Given the description of an element on the screen output the (x, y) to click on. 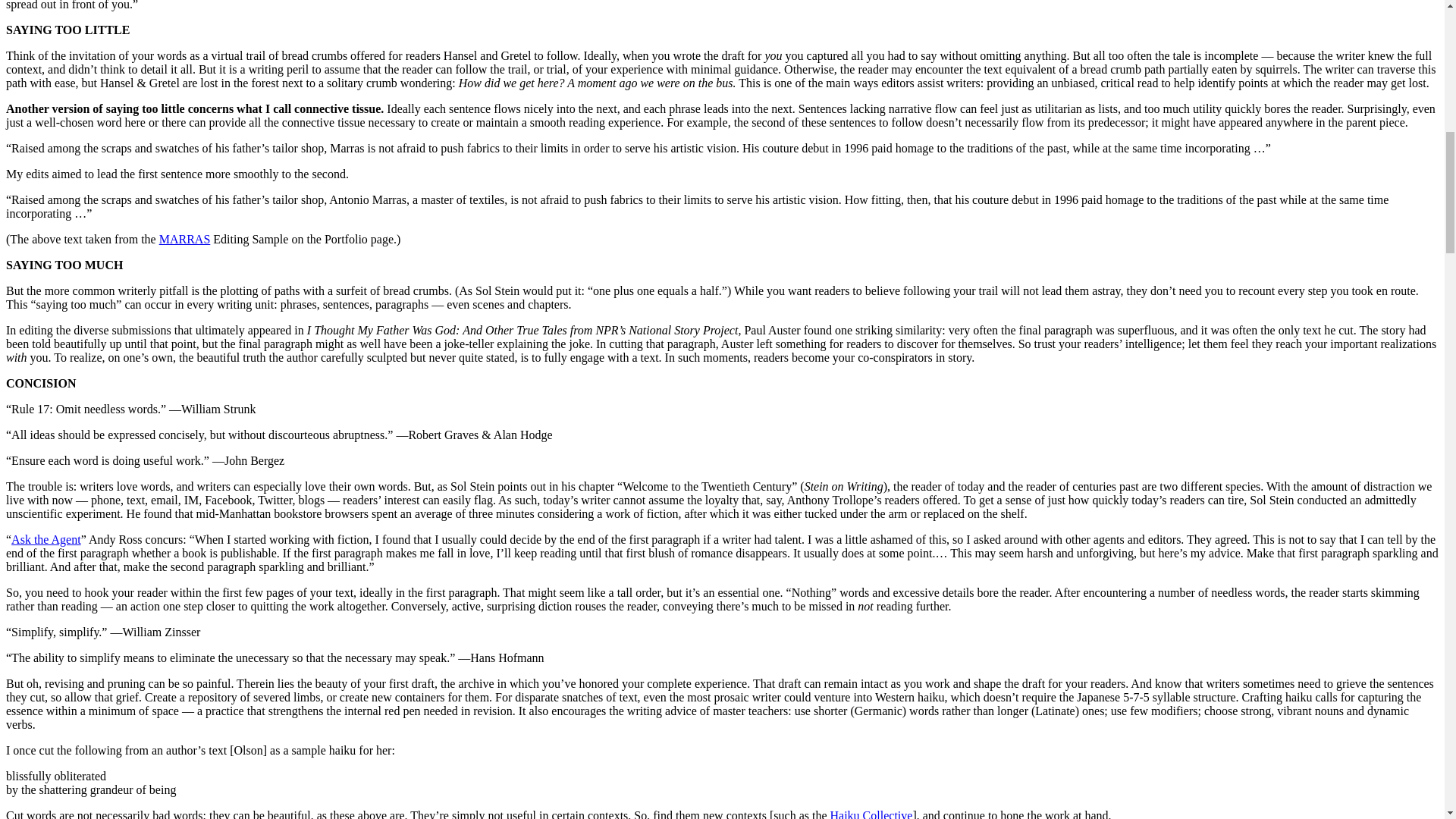
Ask the Agent (46, 539)
Haiku Collective (870, 814)
MARRAS (184, 238)
